Given the description of an element on the screen output the (x, y) to click on. 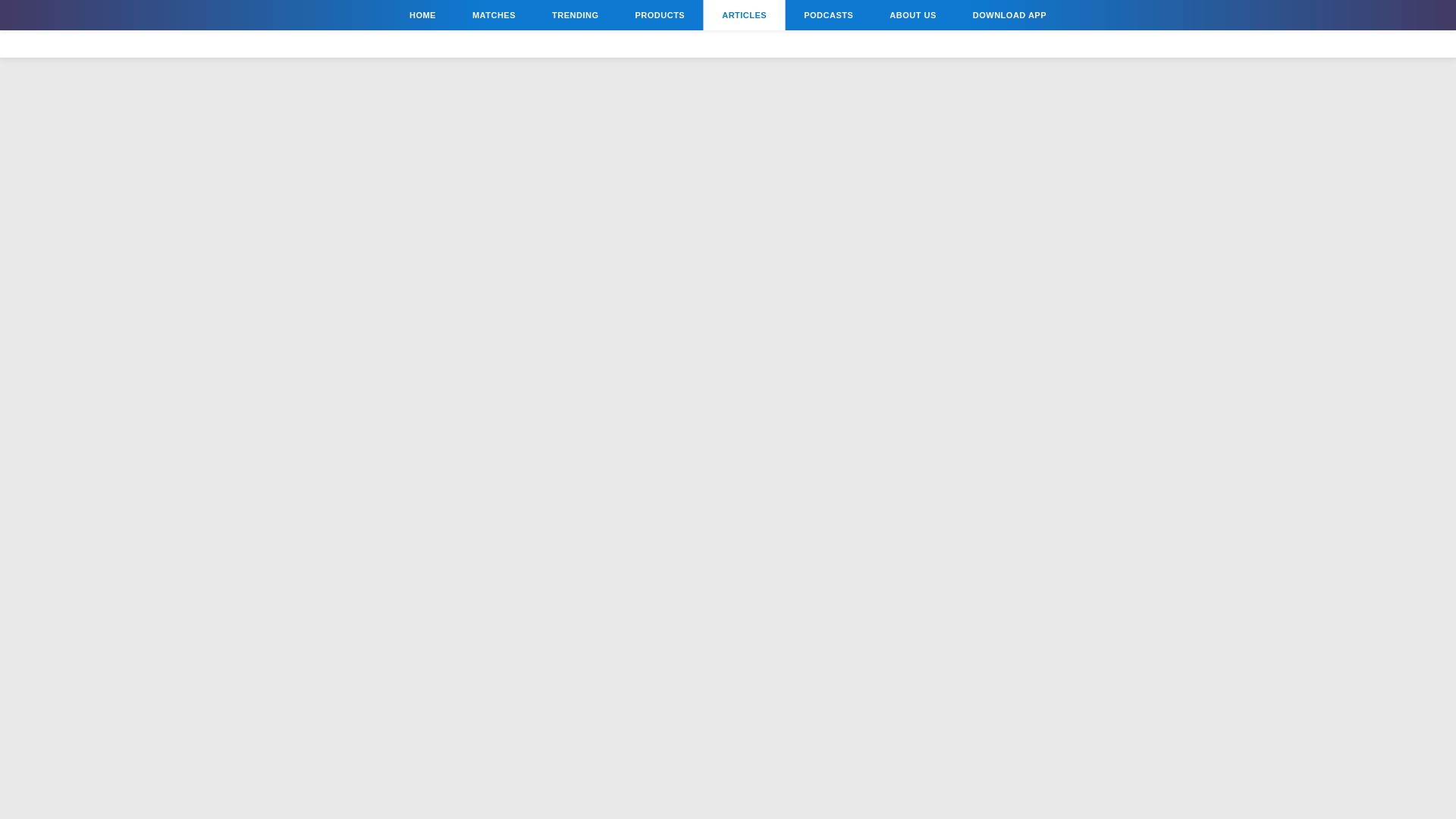
TRENDING (574, 15)
DOWNLOAD APP (1009, 15)
HOME (422, 15)
ABOUT US (911, 15)
PRODUCTS (659, 15)
ARTICLES (743, 15)
PODCASTS (828, 15)
MATCHES (494, 15)
